Given the description of an element on the screen output the (x, y) to click on. 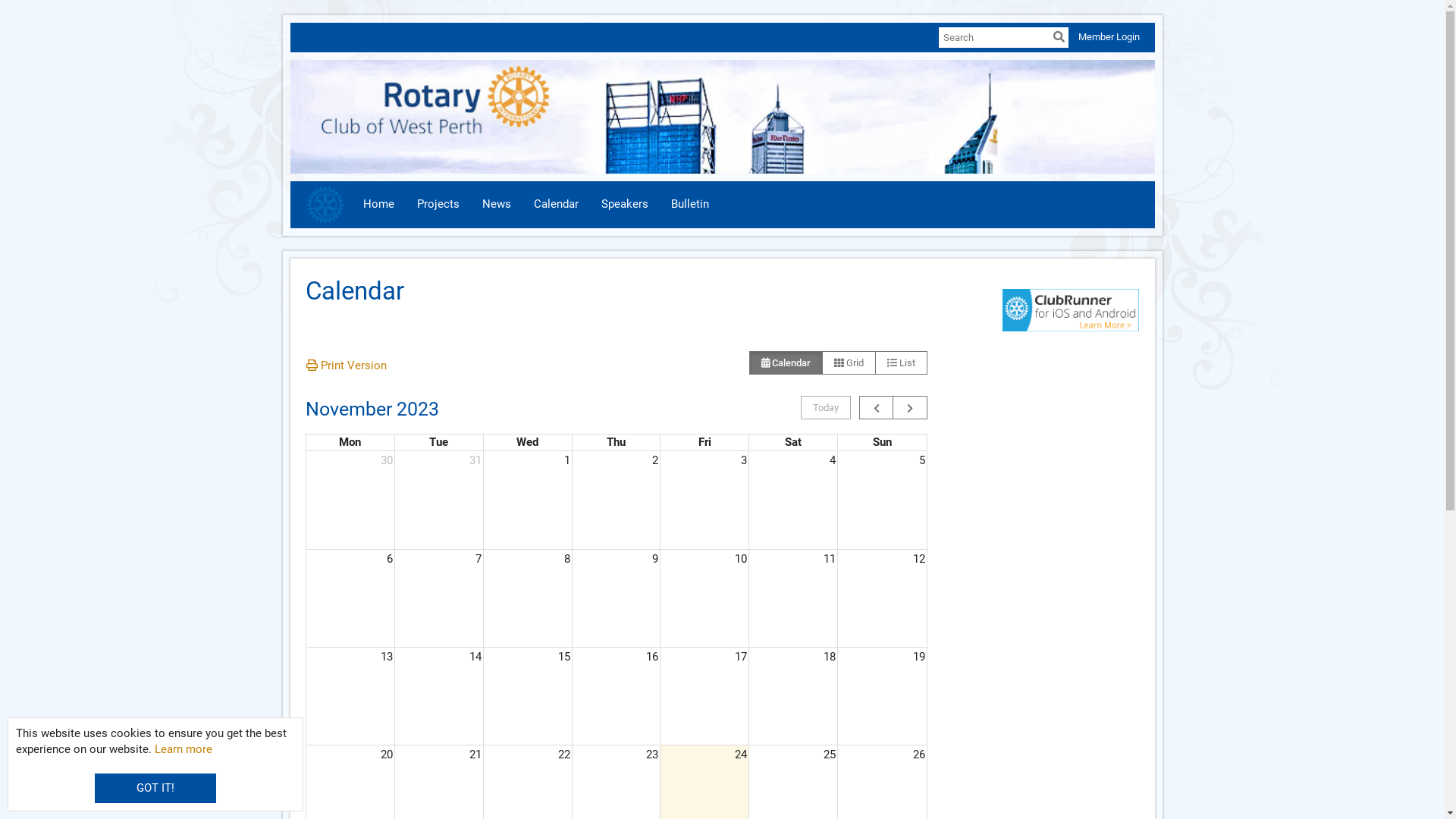
Print Version Element type: text (352, 365)
Speakers Element type: text (624, 204)
Projects Element type: text (437, 204)
News Element type: text (495, 204)
Calendar Element type: text (555, 204)
Grid Element type: text (848, 363)
Member Login Element type: text (1108, 36)
GOT IT! Element type: text (155, 788)
Learn more Element type: text (183, 749)
Bulletin Element type: text (689, 204)
Today Element type: text (825, 407)
List Element type: text (901, 363)
Home Element type: text (378, 204)
